Given the description of an element on the screen output the (x, y) to click on. 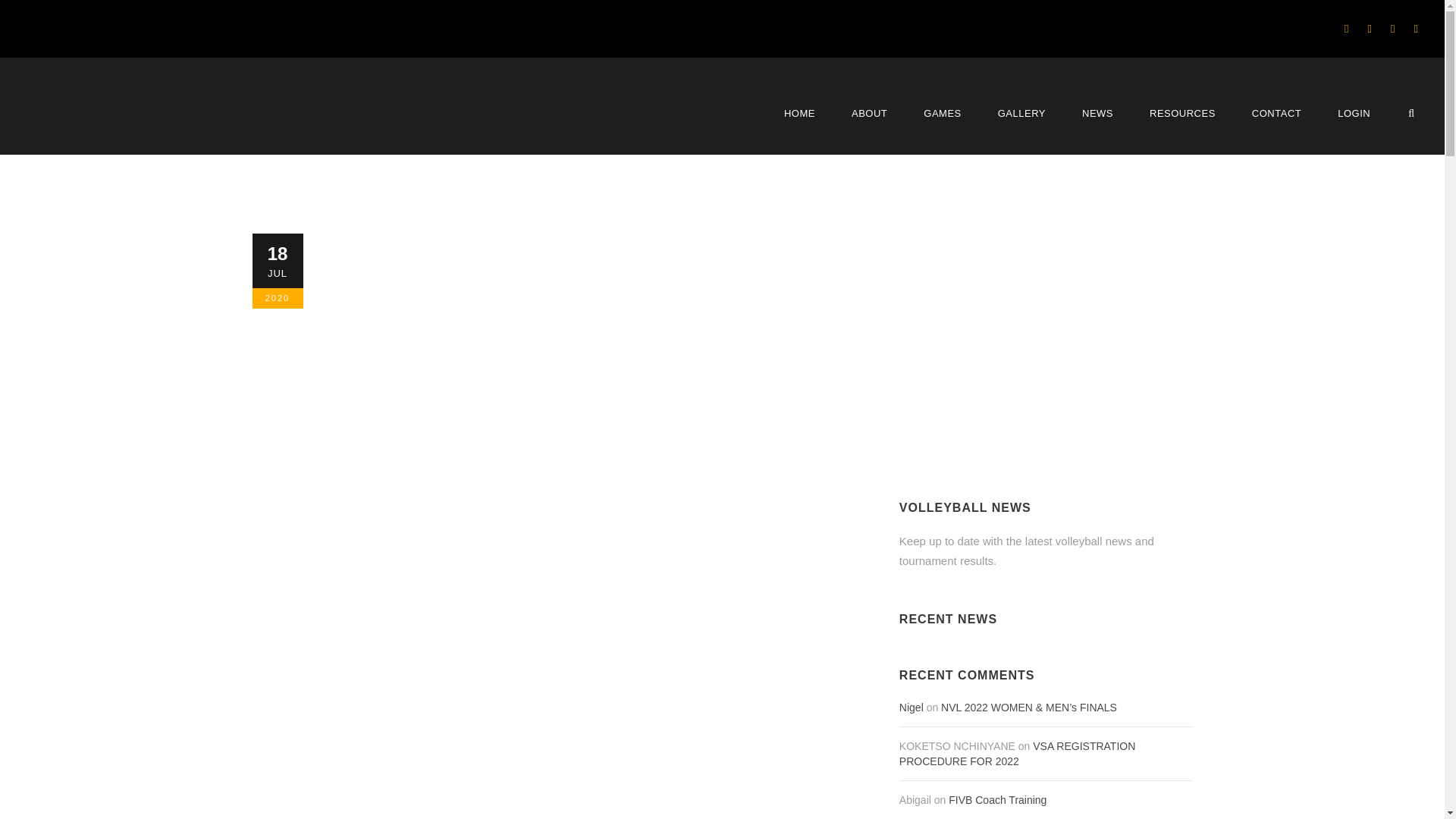
Posts by admin (358, 379)
VSAfinal (94, 117)
